Given the description of an element on the screen output the (x, y) to click on. 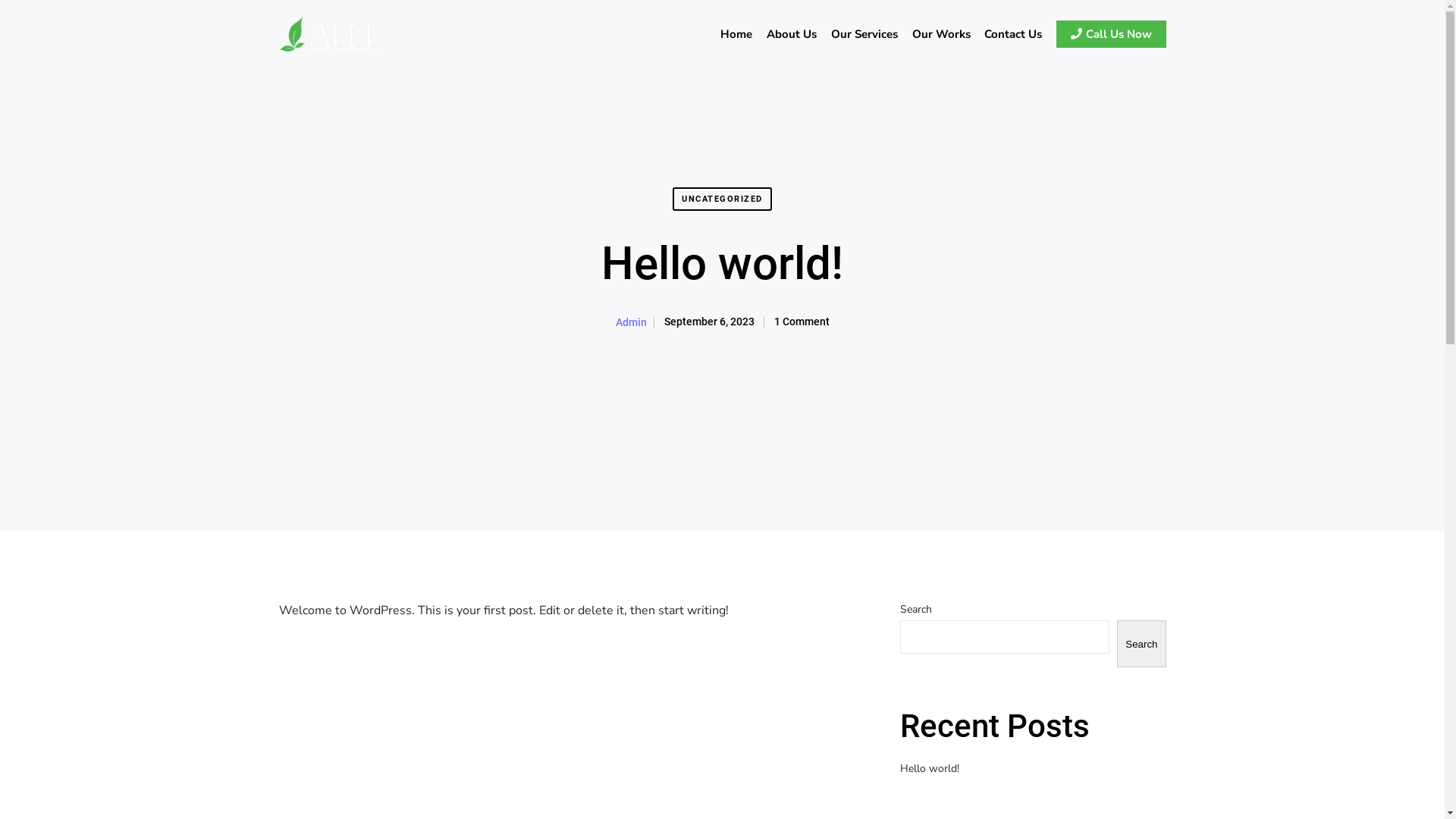
Search Element type: text (1141, 643)
Hello world! Element type: text (928, 768)
Contact Us Element type: text (1013, 34)
Our Works Element type: text (940, 34)
Admin Element type: text (630, 322)
Call Us Now Element type: text (1108, 34)
UNCATEGORIZED Element type: text (721, 198)
About Us Element type: text (790, 34)
Home Element type: text (736, 34)
Our Services Element type: text (863, 34)
